Given the description of an element on the screen output the (x, y) to click on. 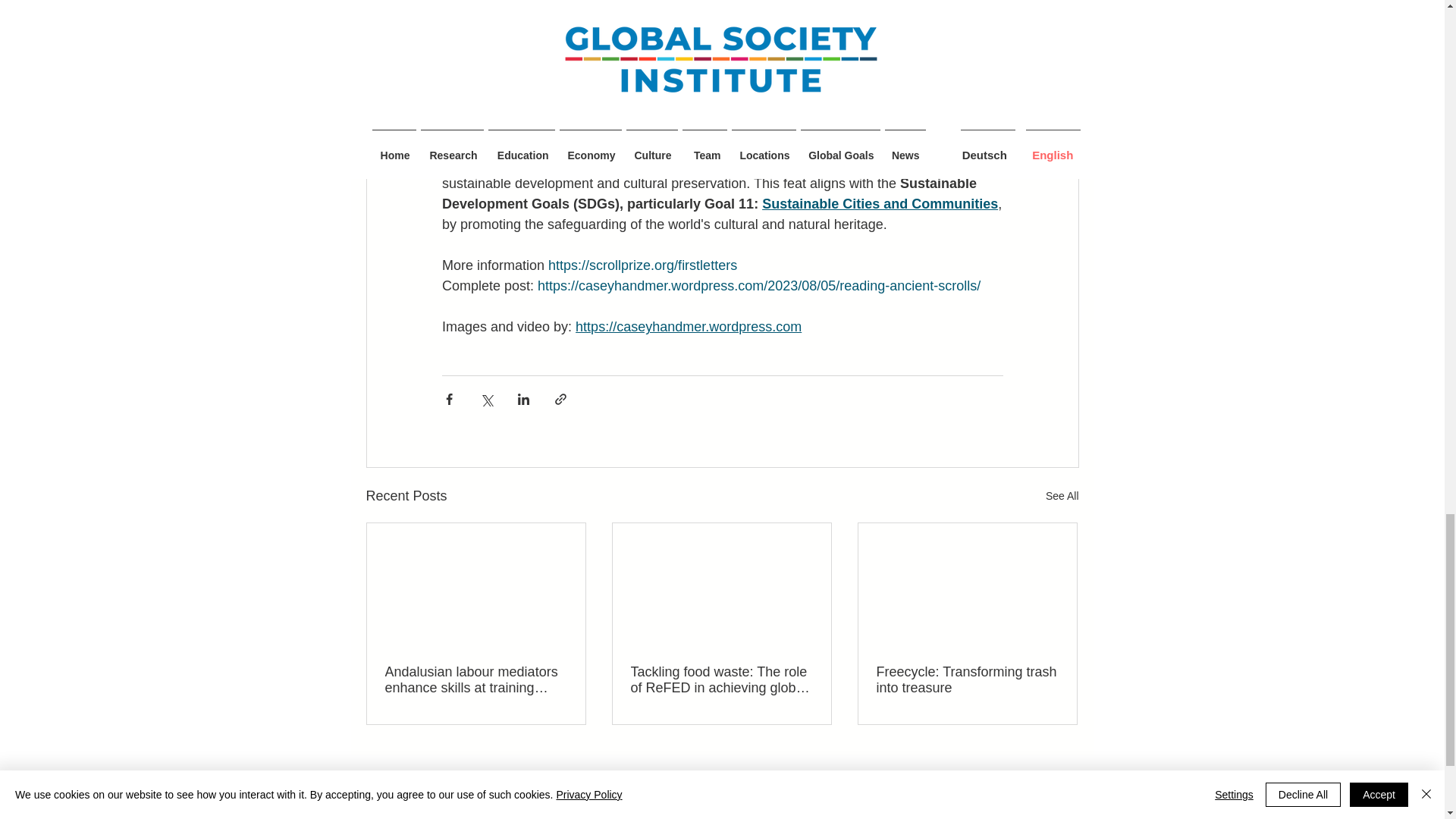
Freecycle: Transforming trash into treasure (967, 680)
Privacy Policy (1137, 813)
See All (1061, 495)
Position Paper (1136, 788)
Sustainable Cities and Communities (879, 203)
Imprint (1154, 801)
Captura de pantalla 2023-03-24 a las 9.4 (243, 807)
